Given the description of an element on the screen output the (x, y) to click on. 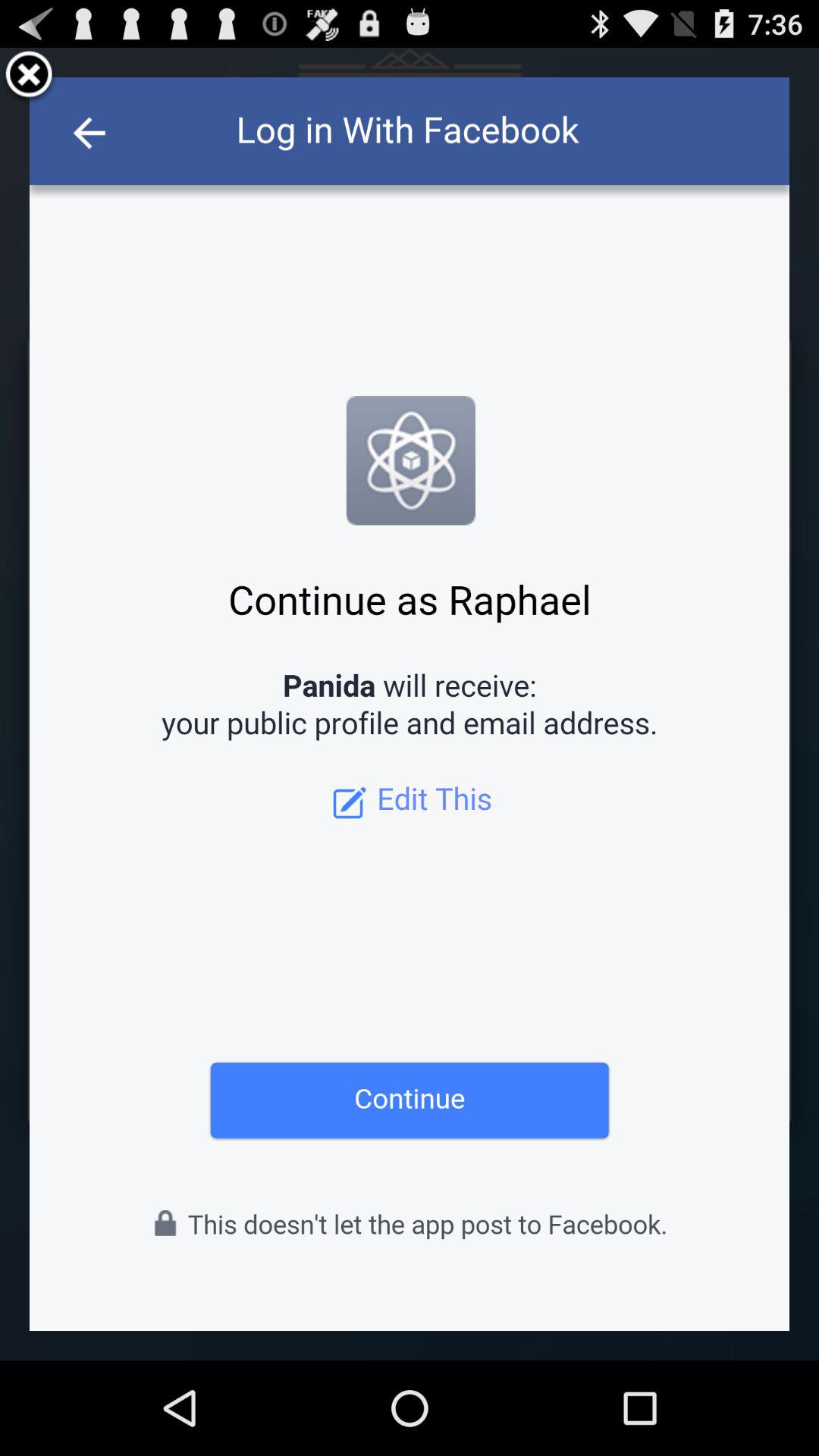
continue facebook (409, 703)
